Given the description of an element on the screen output the (x, y) to click on. 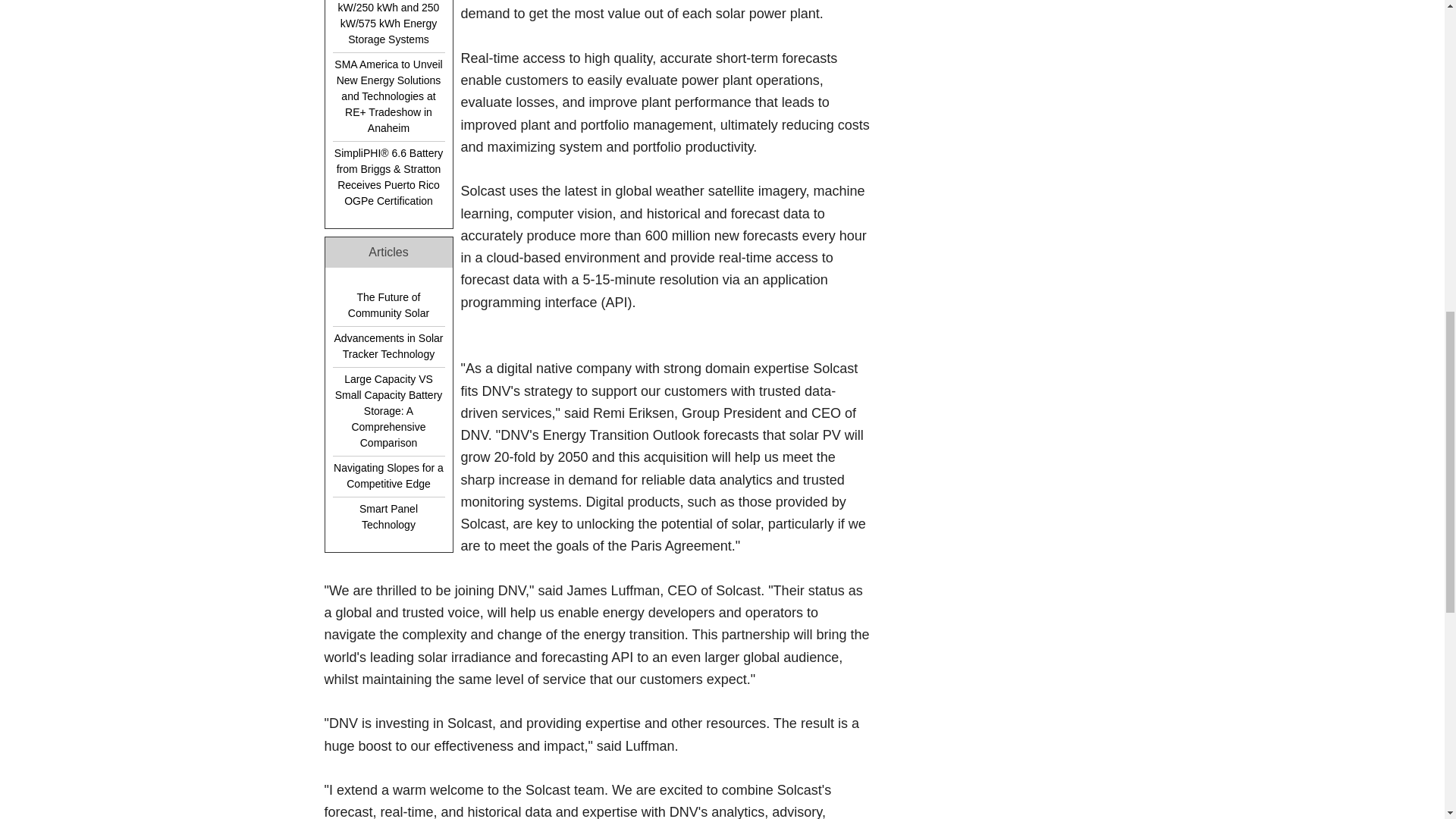
Advancements in Solar Tracker Technology (387, 346)
The Future of Community Solar (387, 305)
Smart Panel Technology (387, 516)
Navigating Slopes for a Competitive Edge (387, 475)
